Given the description of an element on the screen output the (x, y) to click on. 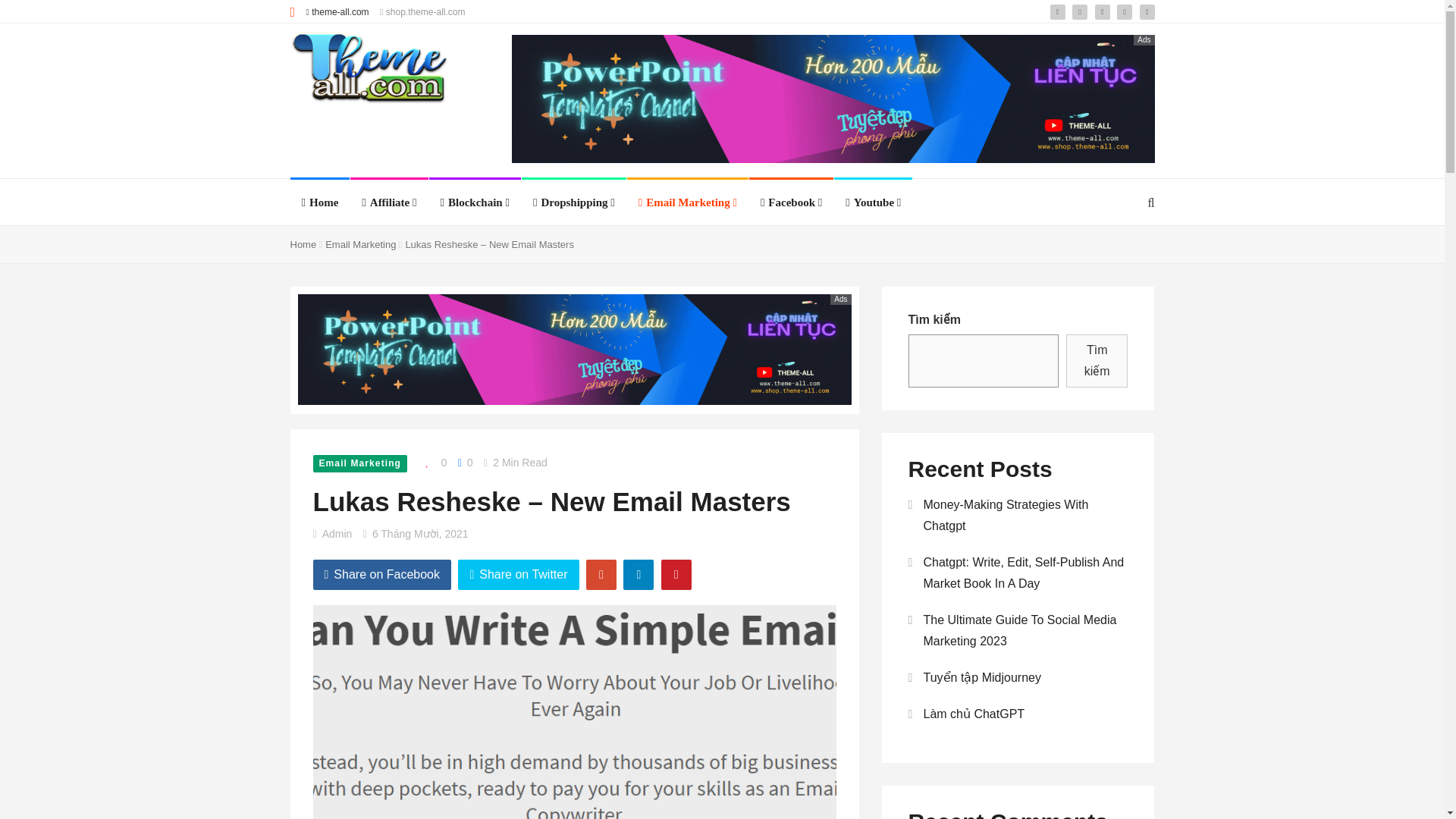
Youtube (873, 202)
Share on Twitter! (518, 574)
Like this (431, 462)
Share on Facebook! (382, 574)
Facebook (791, 202)
The Ultimate Guide To Social Media Marketing 2023 (14, 647)
Email Marketing (687, 202)
Blockchain (475, 202)
Affiliate (388, 202)
Dropshipping (573, 202)
